Given the description of an element on the screen output the (x, y) to click on. 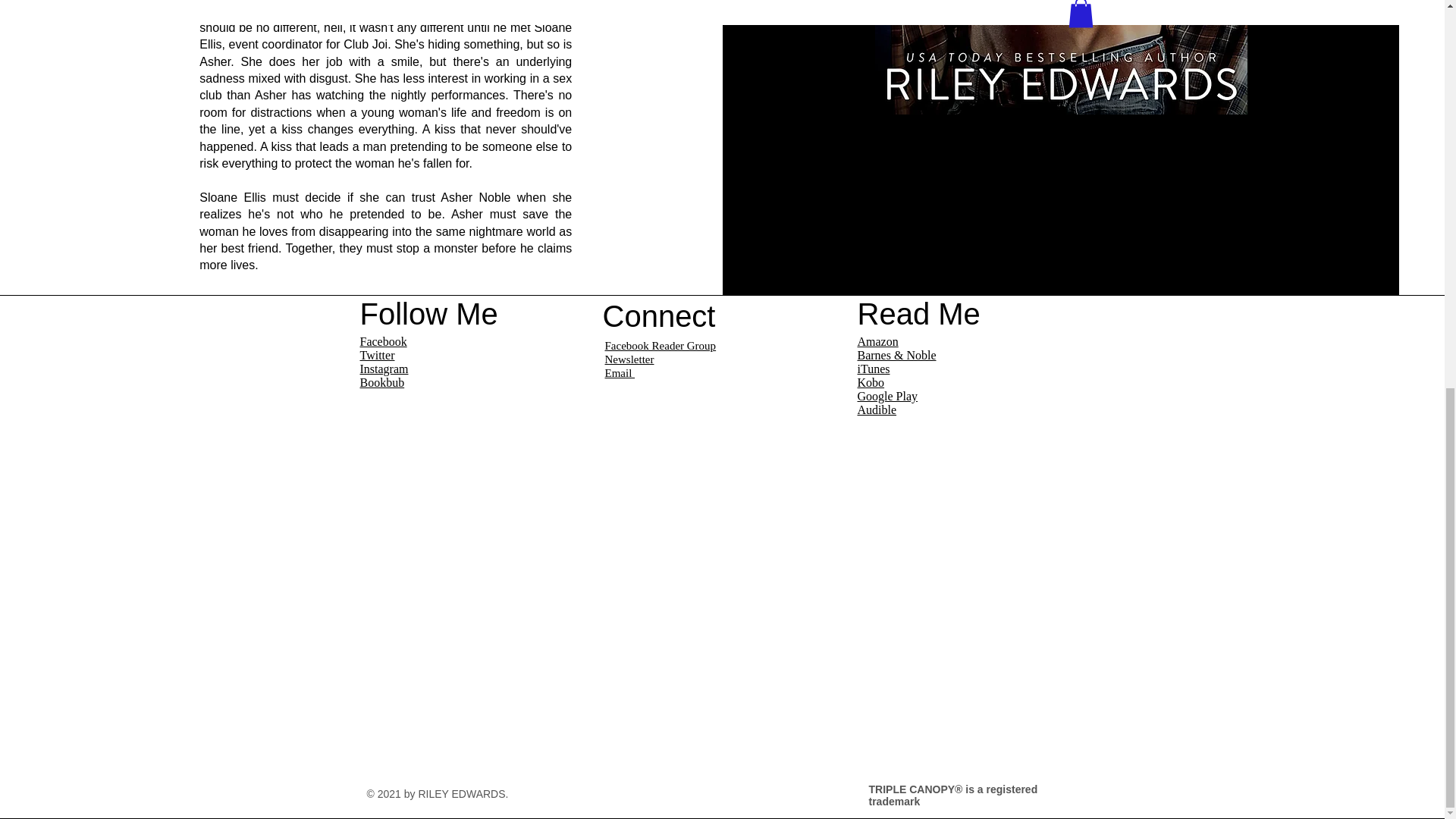
Facebook Reader Group (660, 345)
Email  (619, 372)
iTunes (873, 368)
Newsletter (629, 358)
Instagram (383, 368)
Facebook (382, 341)
Twitter (376, 354)
Bookbub (381, 382)
Amazon (877, 341)
